Given the description of an element on the screen output the (x, y) to click on. 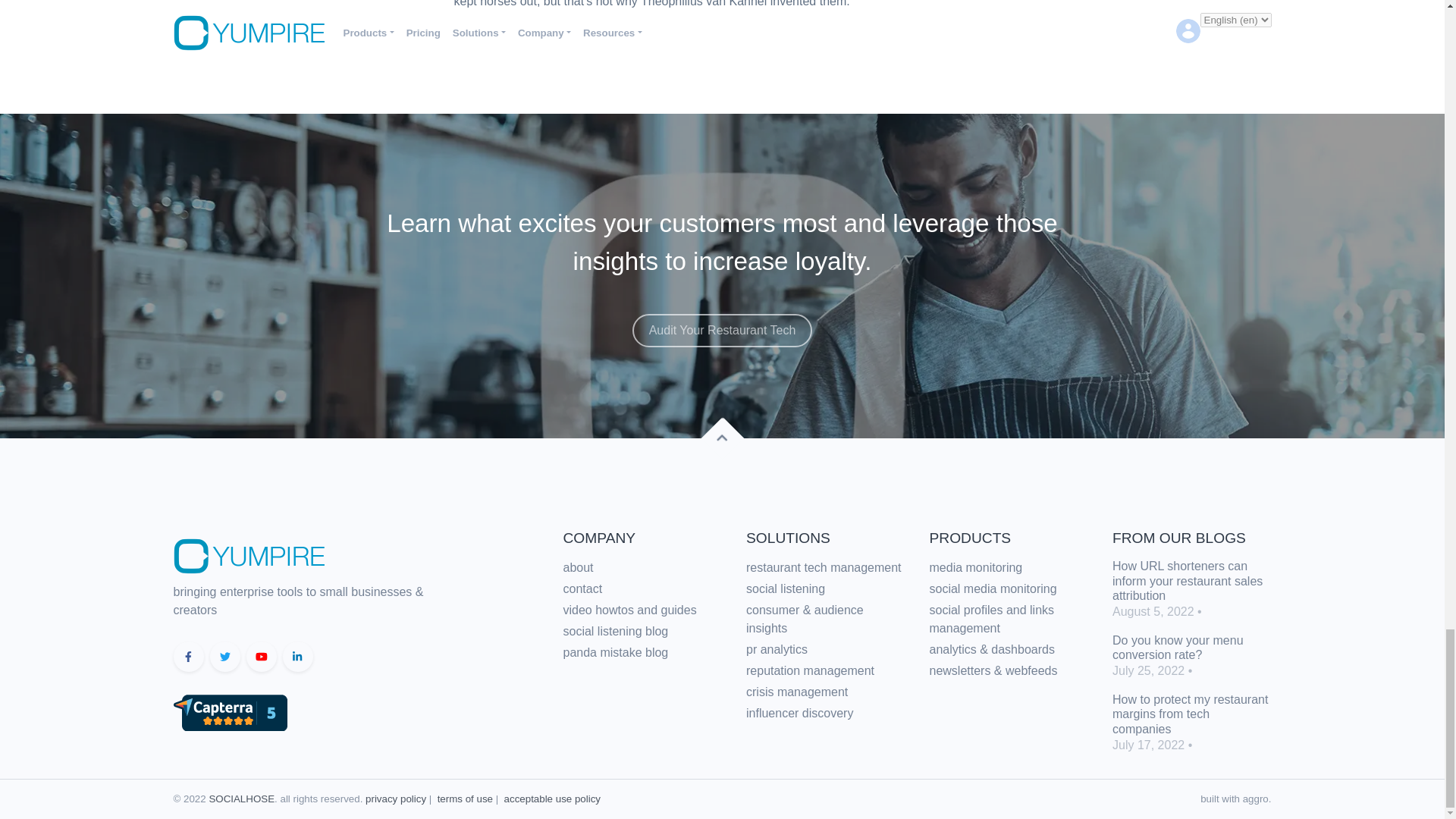
Audit Your Restaurant Tech (721, 330)
Audit Your Restaurant Tech (721, 318)
